Given the description of an element on the screen output the (x, y) to click on. 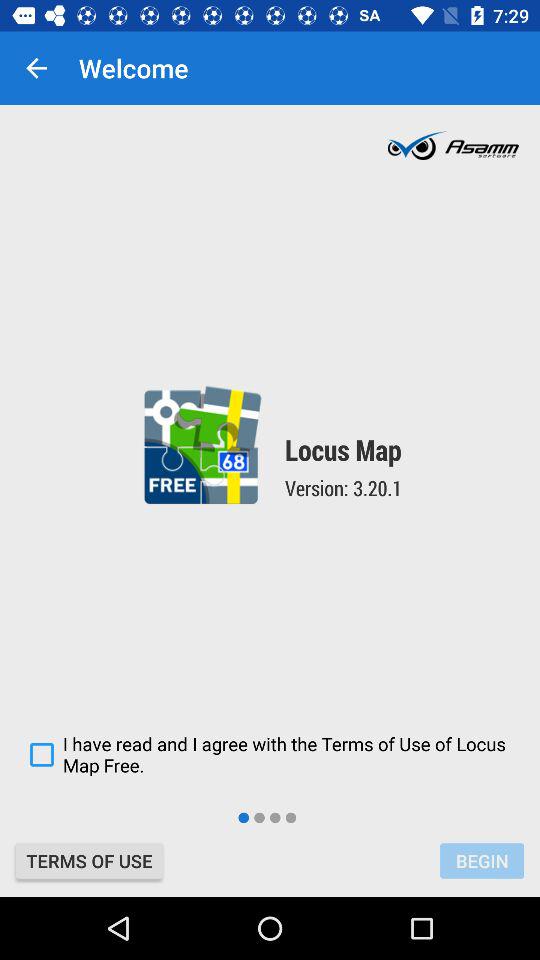
press begin icon (482, 860)
